Given the description of an element on the screen output the (x, y) to click on. 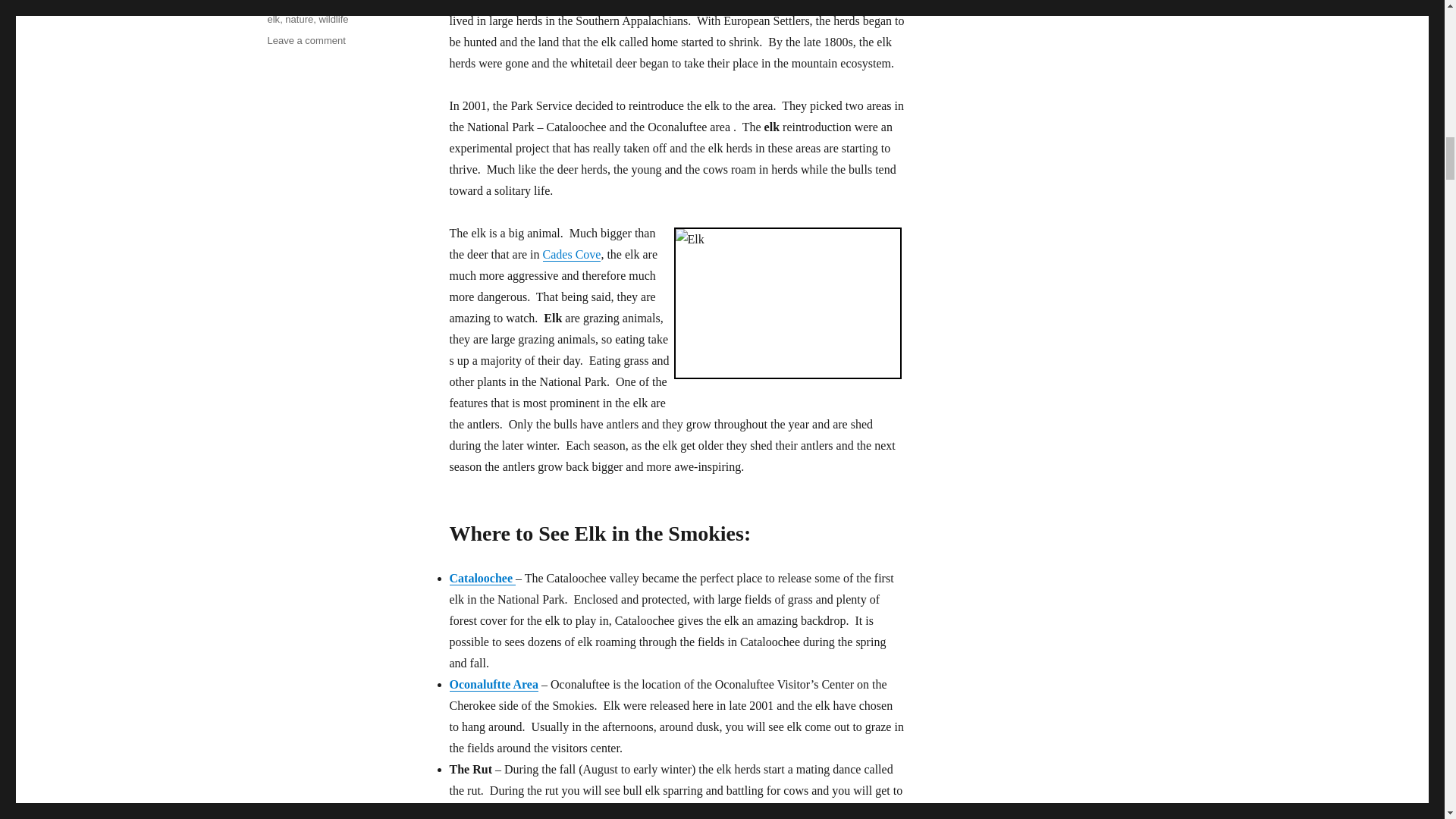
Oconaluftte Area (492, 684)
Cades Cove (572, 254)
GSMNP (284, 2)
Cataloochee (481, 577)
wildlife (332, 19)
Cades Cove (572, 254)
Cataloochee (305, 40)
Oconaluftee (481, 577)
nature (492, 684)
